Given the description of an element on the screen output the (x, y) to click on. 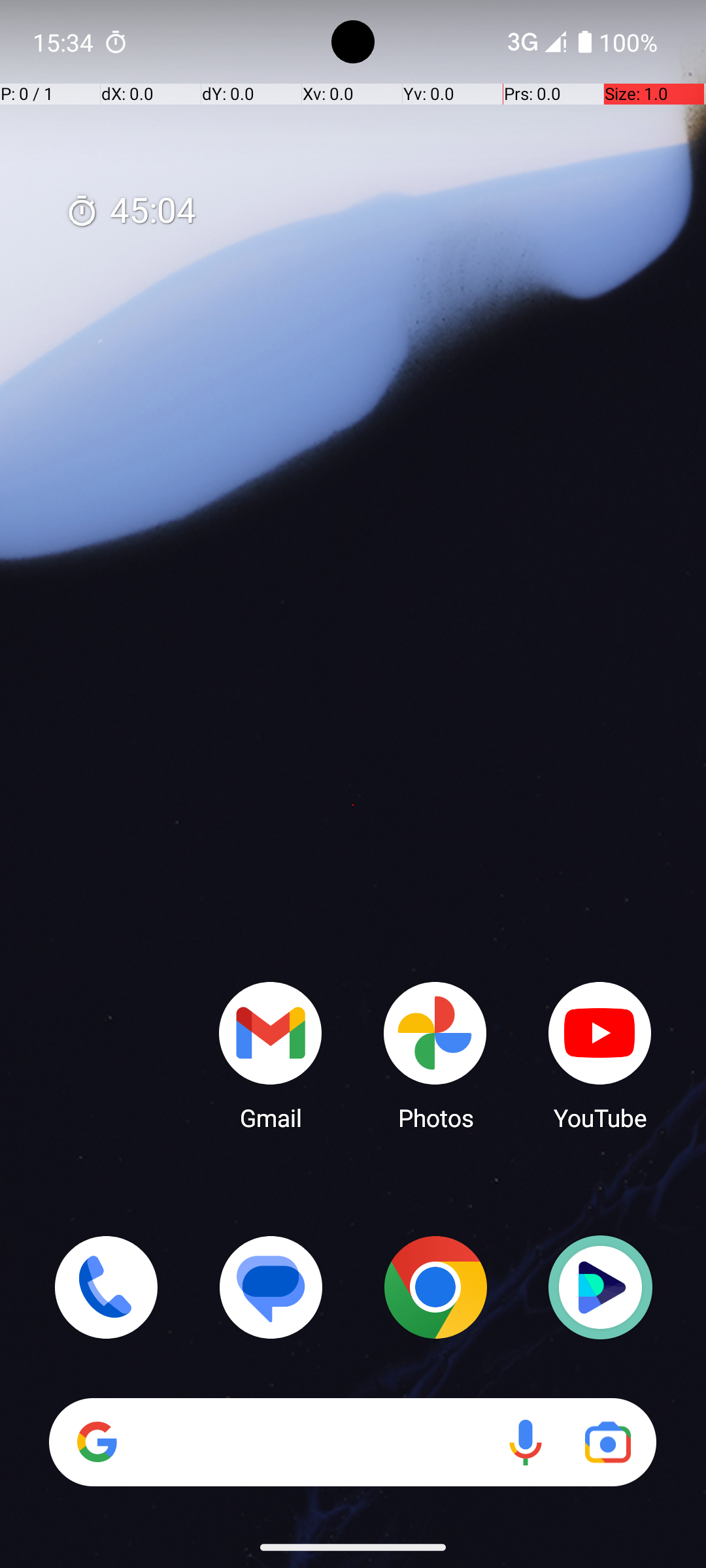
Home Element type: android.view.View (353, 804)
Phone Element type: android.widget.TextView (105, 1287)
Messages Element type: android.widget.TextView (270, 1287)
Chrome Element type: android.widget.TextView (435, 1287)
Retro Music Element type: android.widget.TextView (599, 1287)
Search Element type: android.widget.FrameLayout (352, 1442)
45:04 Element type: android.widget.TextView (130, 210)
Gmail Element type: android.widget.TextView (270, 1054)
Photos Element type: android.widget.TextView (435, 1054)
YouTube Element type: android.widget.TextView (599, 1054)
Google app Element type: android.widget.ImageView (97, 1441)
Voice search Element type: android.widget.ImageView (525, 1442)
Google Lens Element type: android.widget.ImageButton (607, 1442)
